Given the description of an element on the screen output the (x, y) to click on. 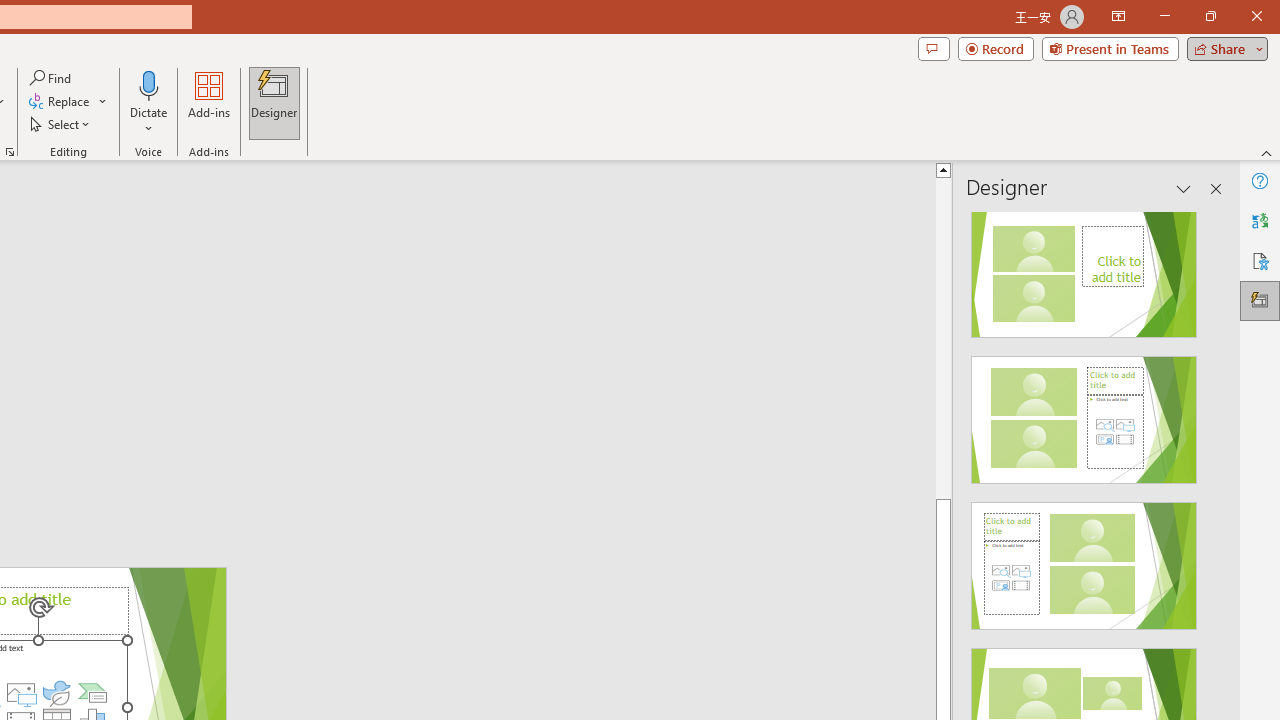
Insert a SmartArt Graphic (92, 692)
